Given the description of an element on the screen output the (x, y) to click on. 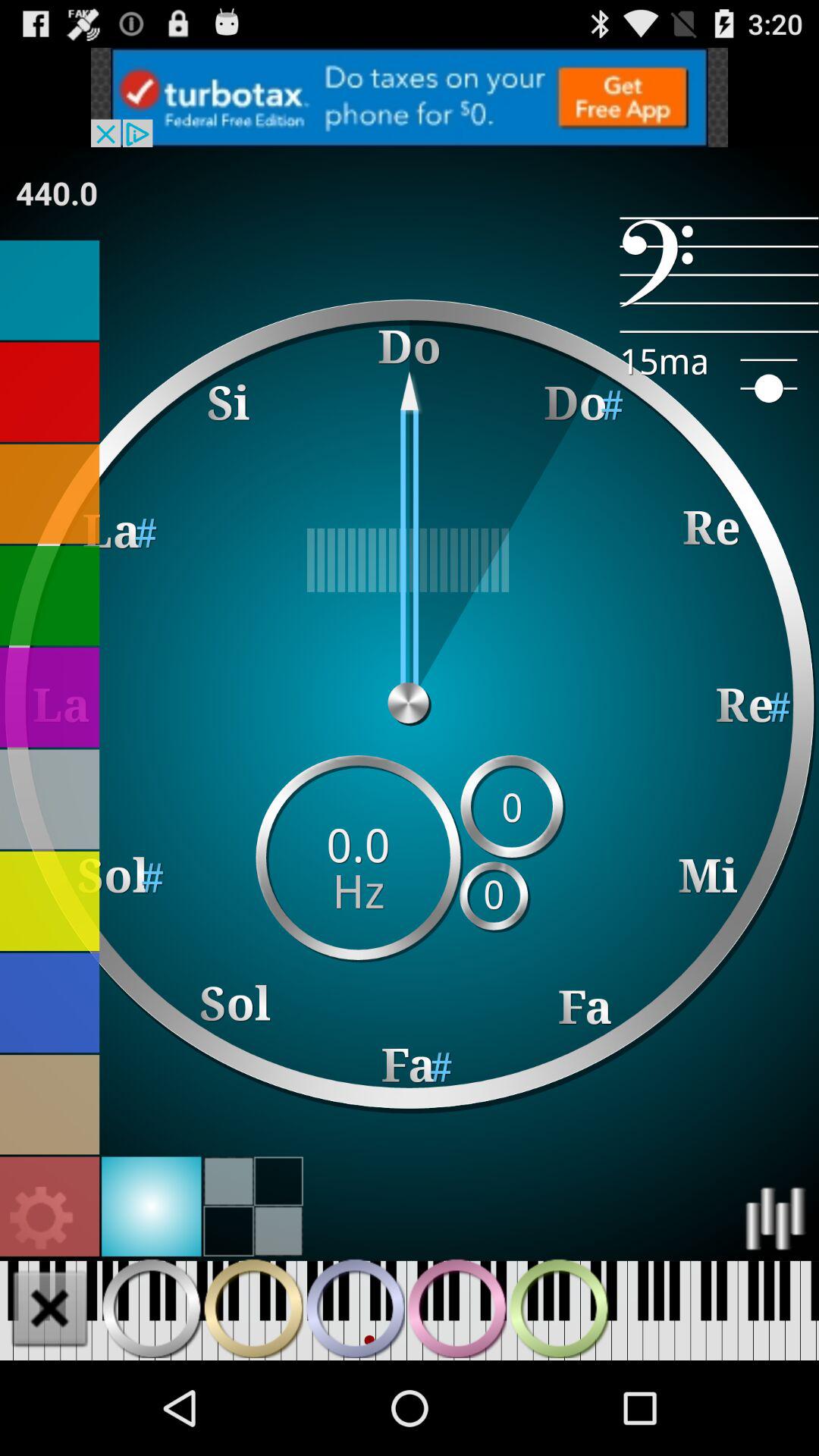
turn on the app below c a r item (409, 560)
